Given the description of an element on the screen output the (x, y) to click on. 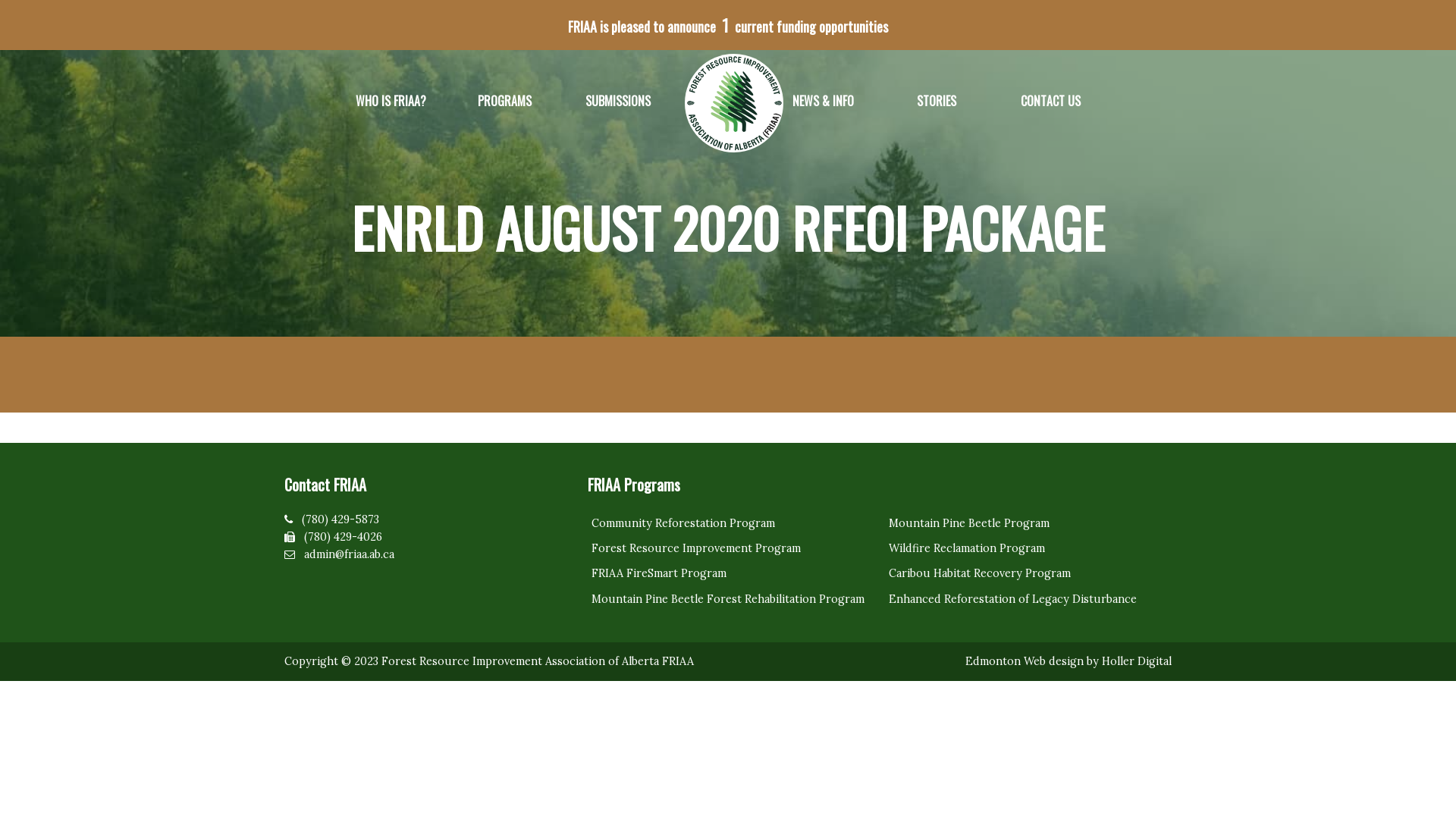
SUBMISSIONS Element type: text (617, 101)
admin@friaa.ab.ca Element type: text (349, 554)
Enhanced Reforestation of Legacy Disturbance Element type: text (1027, 598)
FRIAA FireSmart Program Element type: text (730, 573)
NEWS & INFO Element type: text (822, 101)
Community Reforestation Program Element type: text (730, 523)
Edmonton Web design by Holler Digital Element type: text (1068, 661)
Caribou Habitat Recovery Program Element type: text (1027, 573)
PROGRAMS Element type: text (504, 101)
STORIES Element type: text (936, 101)
CONTACT US Element type: text (1050, 101)
WHO IS FRIAA? Element type: text (390, 101)
Forest Resource Improvement Program Element type: text (730, 548)
Wildfire Reclamation Program Element type: text (1027, 548)
Mountain Pine Beetle Program Element type: text (1027, 523)
Mountain Pine Beetle Forest Rehabilitation Program Element type: text (730, 598)
